Given the description of an element on the screen output the (x, y) to click on. 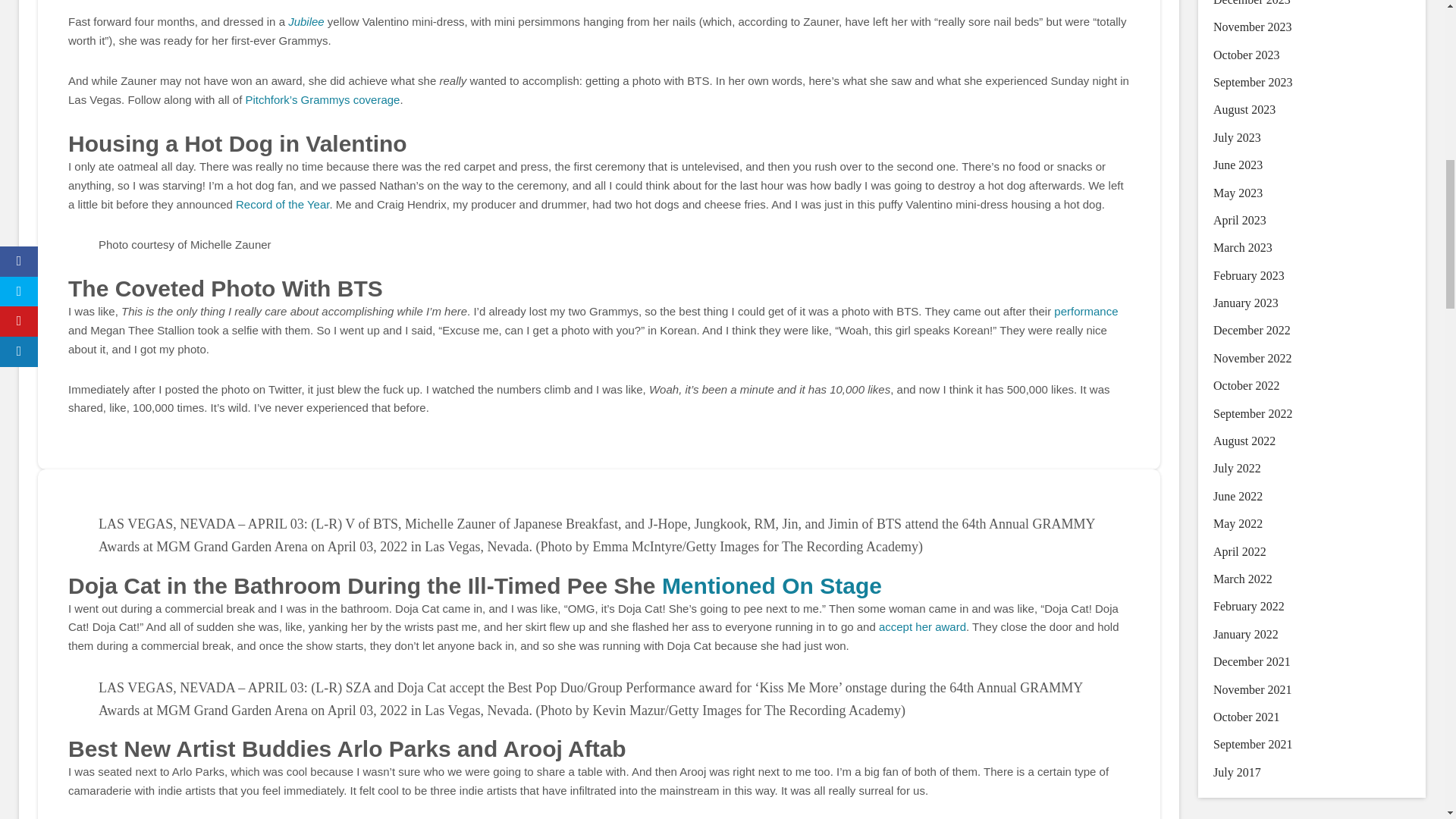
Twitter (80, 0)
